Given the description of an element on the screen output the (x, y) to click on. 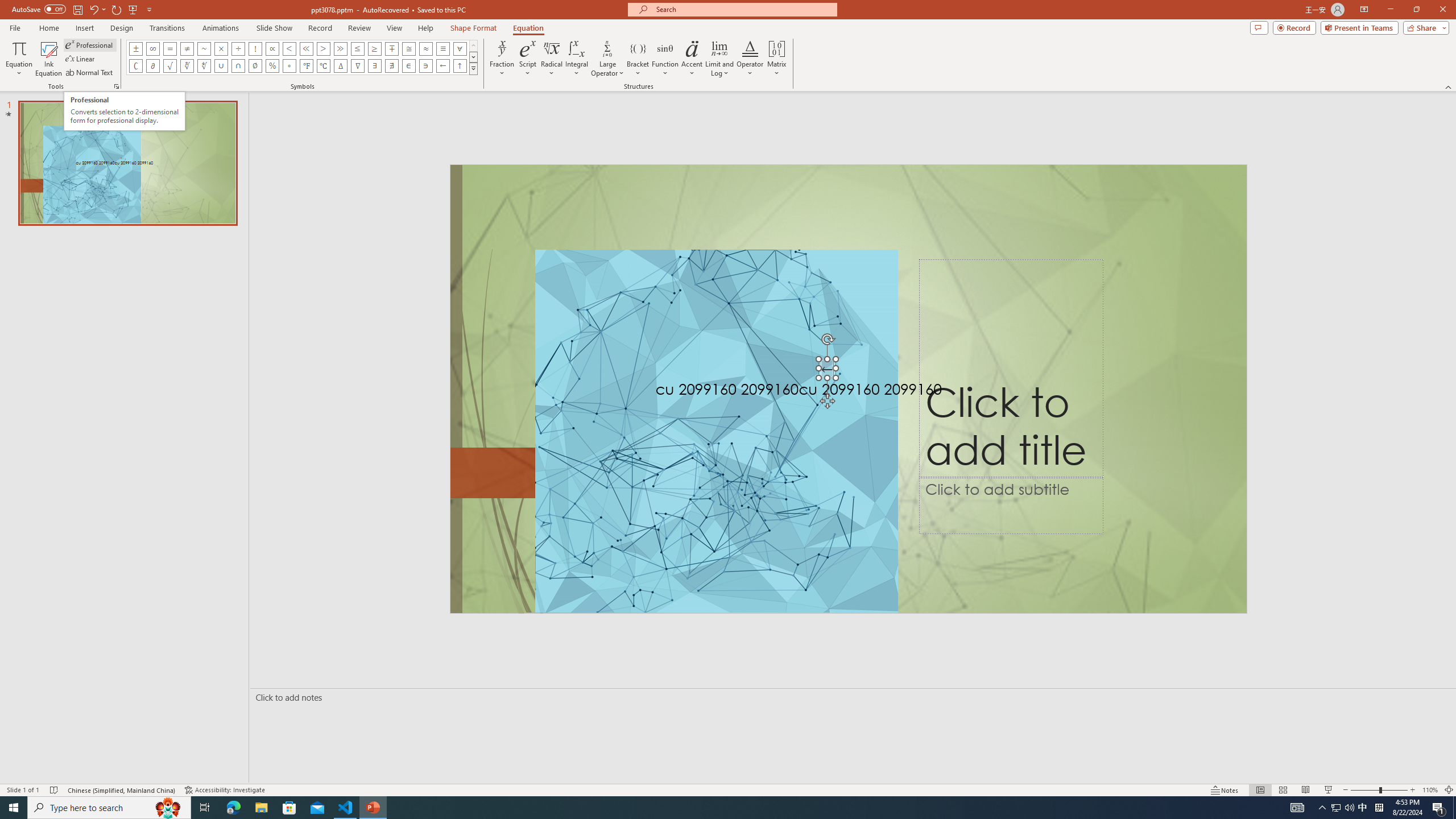
Limit and Log (719, 58)
Equation Symbol Less Than (289, 48)
Equation Symbol Degrees (289, 65)
Equation Options... (116, 85)
Equation Symbol Degrees Fahrenheit (306, 65)
Equation Symbol Infinity (152, 48)
Professional (90, 44)
